Given the description of an element on the screen output the (x, y) to click on. 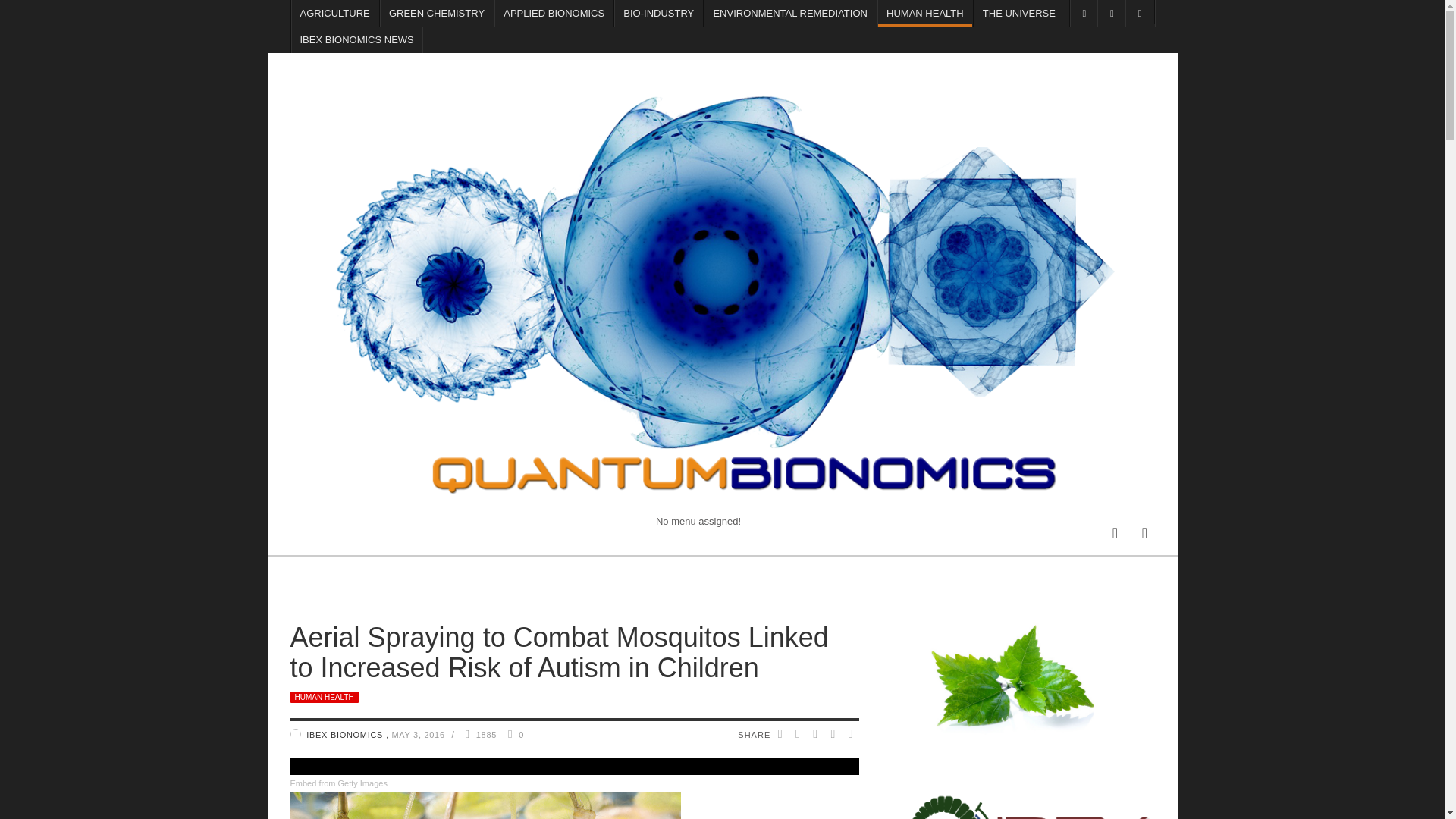
HUMAN HEALTH (323, 696)
Login (1144, 532)
APPLIED BIONOMICS (553, 13)
IBEX BIONOMICS (345, 734)
0 (521, 734)
AGRICULTURE (334, 13)
Share on Facebook (780, 734)
BIO-INDUSTRY (657, 13)
Share on Twitter (799, 734)
HUMAN HEALTH (924, 13)
IBEX Bionomics (294, 733)
HUMAN HEALTH (323, 696)
GREEN CHEMISTRY (436, 13)
THE UNIVERSE (1019, 13)
IBEX BIONOMICS NEWS (356, 39)
